Given the description of an element on the screen output the (x, y) to click on. 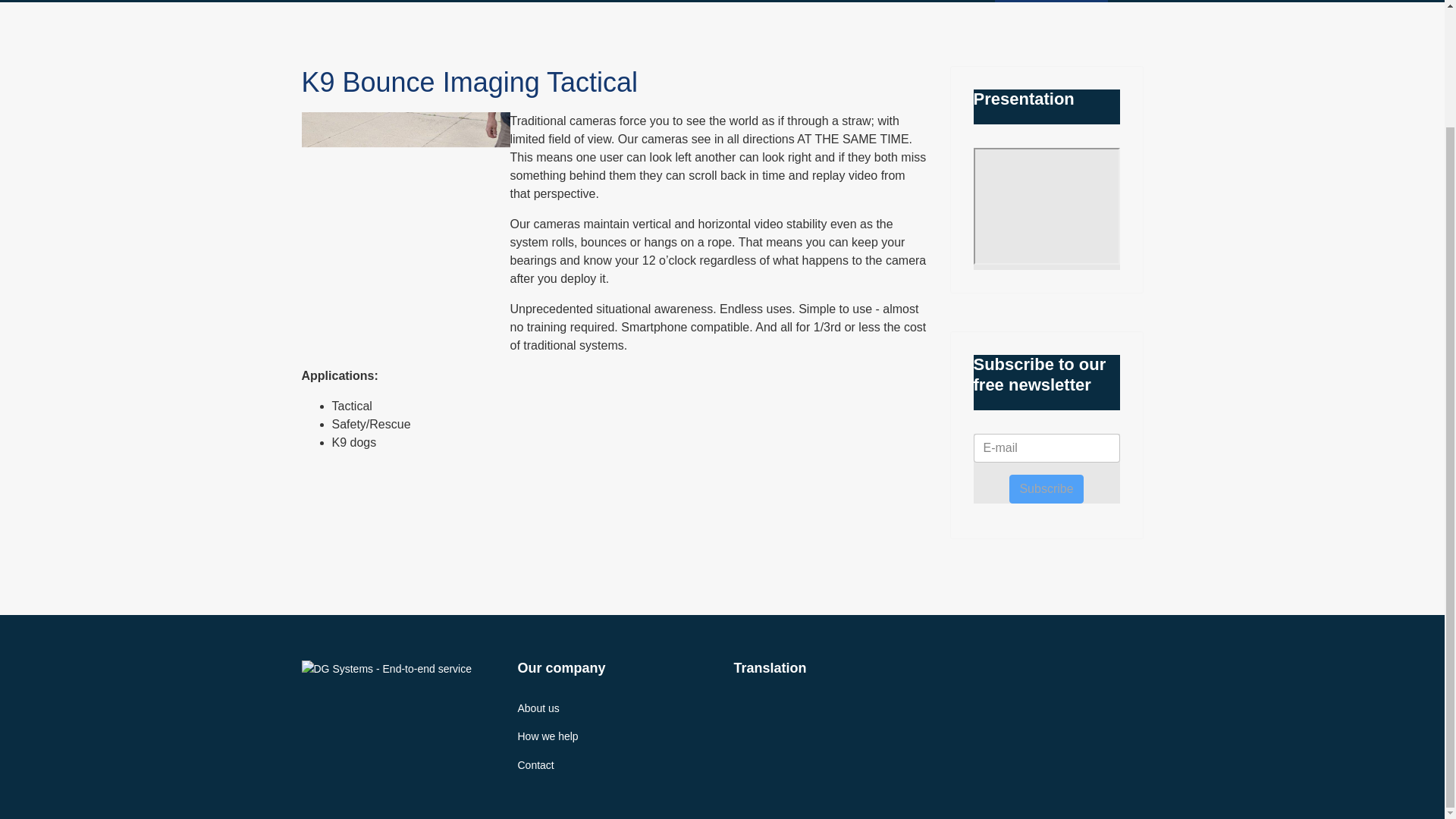
E-mail (1046, 448)
E-mail (1046, 448)
Counter Drone Solution (885, 1)
DG Systems - End-to-end service (396, 695)
Blast management (776, 1)
Contact DG Systems (613, 764)
Vital infrastructure (678, 1)
How we help our customers at DG Systems (613, 736)
Subscribe (1046, 489)
Contact (1131, 1)
